Given the description of an element on the screen output the (x, y) to click on. 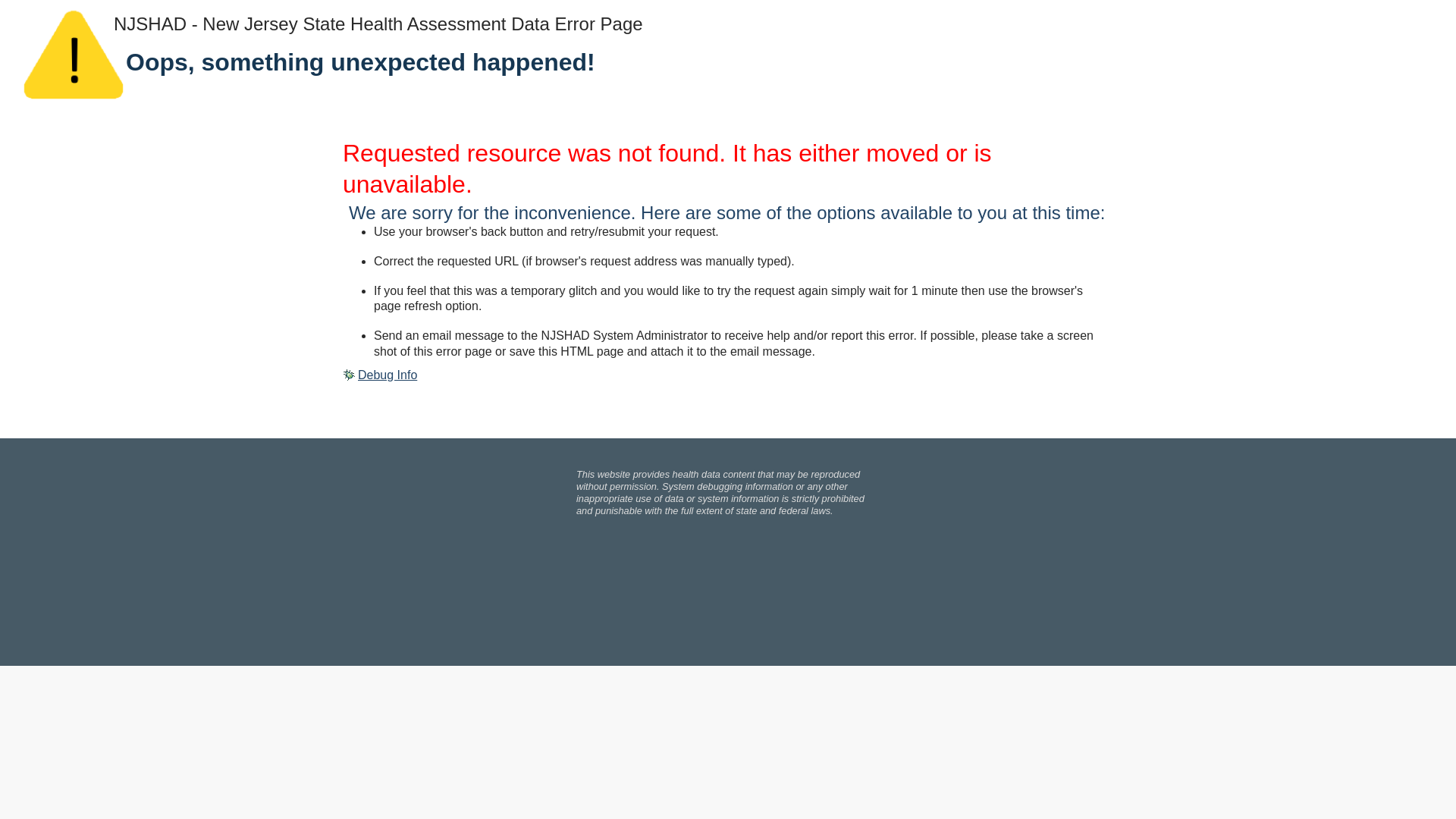
HTTP Status Code: 500 (727, 169)
Debug Info (379, 374)
Show Debugging Information (379, 374)
